Given the description of an element on the screen output the (x, y) to click on. 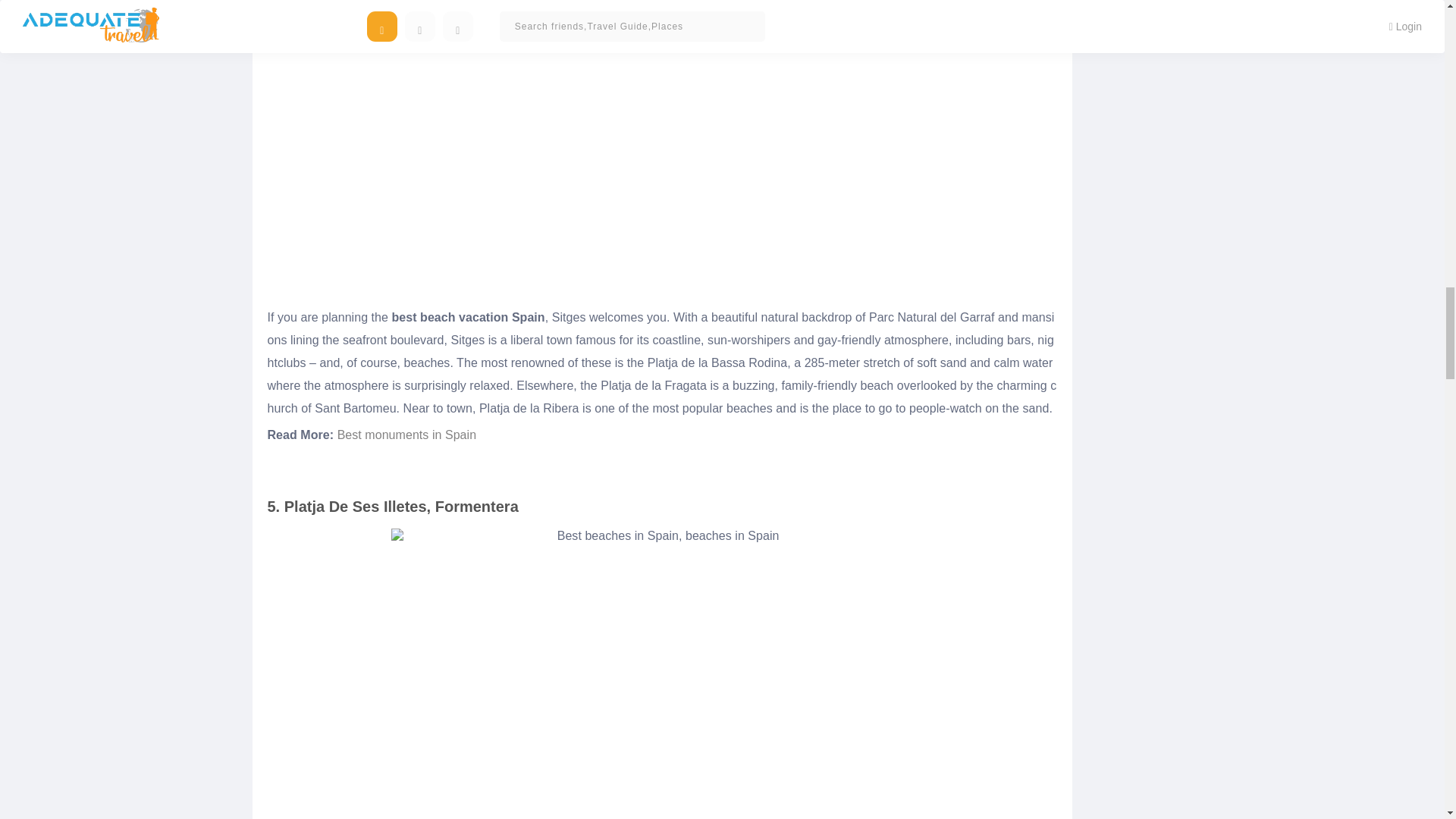
Best monuments in Spain (406, 434)
